Given the description of an element on the screen output the (x, y) to click on. 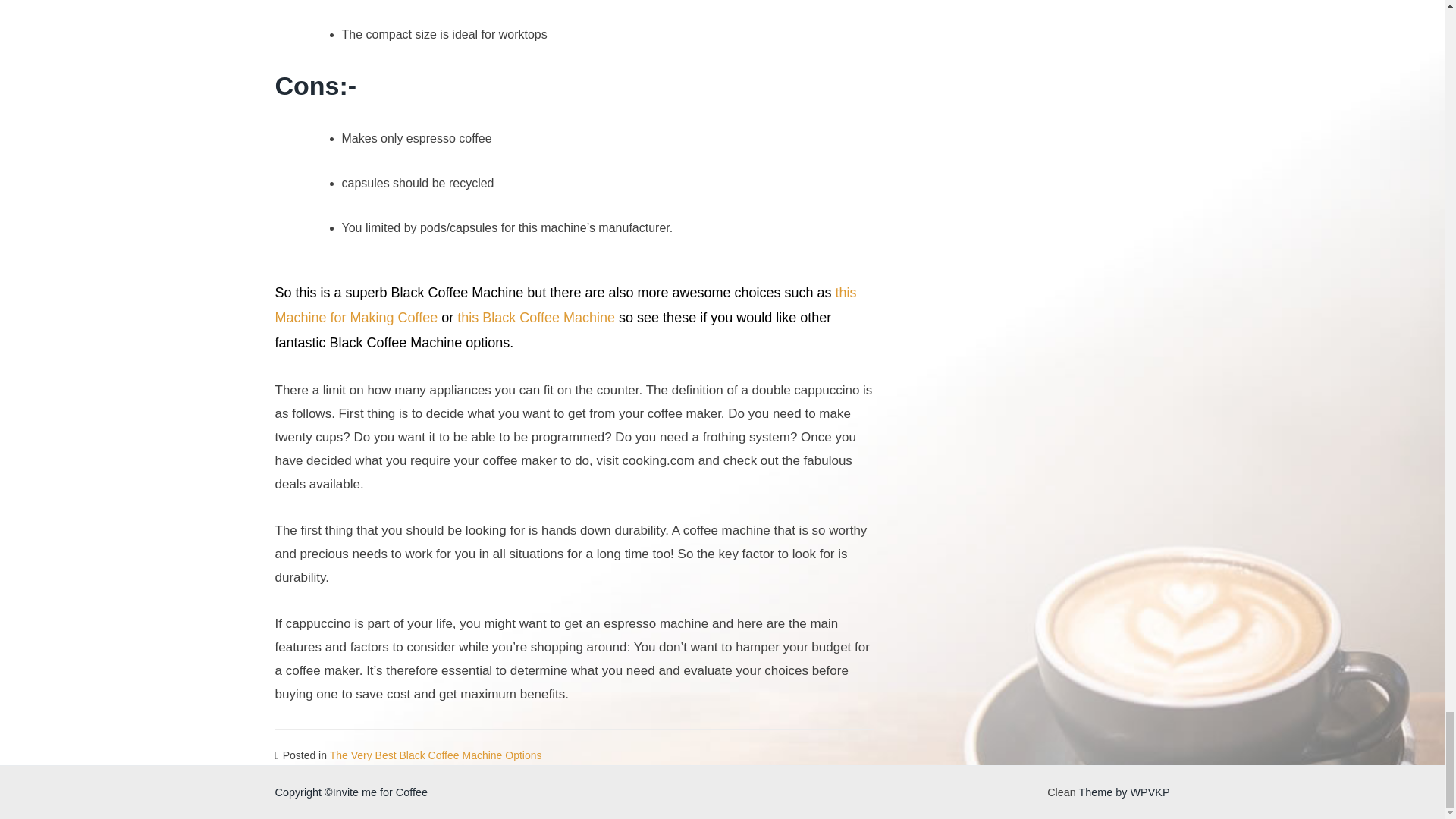
The Very Best Black Coffee Machine Options (435, 755)
Clean (1060, 792)
this Black Coffee Machine (535, 317)
this Machine for Making Coffee (565, 305)
